Given the description of an element on the screen output the (x, y) to click on. 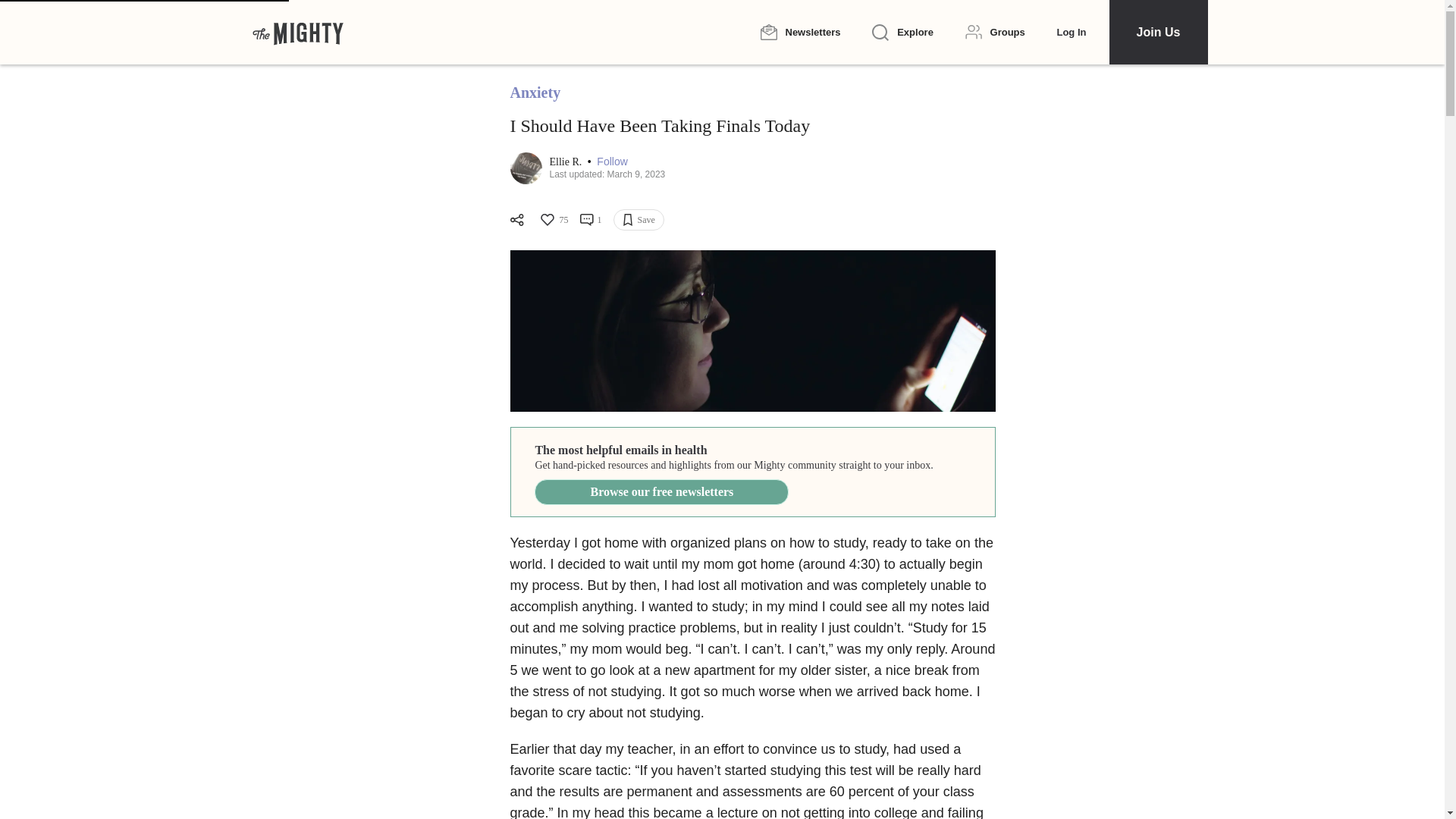
Anxiety (534, 92)
Newsletters (800, 31)
Explore (902, 32)
Ellie R. (565, 161)
The Mighty (296, 32)
Follow (611, 161)
Save (637, 219)
Join Us (1157, 32)
Groups (995, 32)
75 (552, 219)
